Given the description of an element on the screen output the (x, y) to click on. 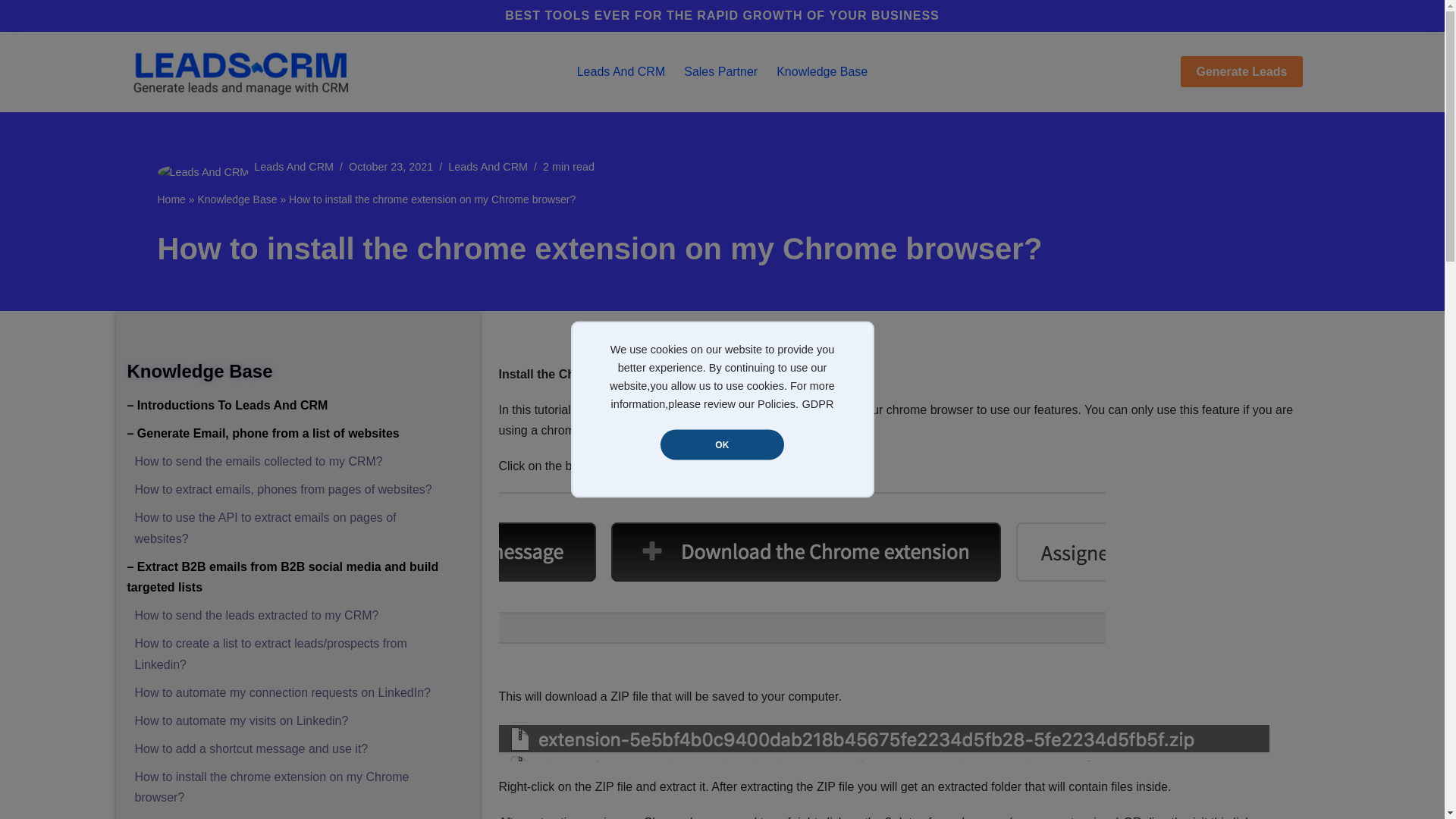
Knowledge Base (236, 199)
How to send the leads extracted to my CRM? (256, 615)
Knowledge Base (821, 71)
How to use the API to extract emails on pages of websites? (265, 527)
How to install the chrome extension on my Chrome browser? (272, 786)
How to extract emails, phones from pages of websites? (283, 489)
GDPR (818, 288)
Posts by Leads And CRM (293, 166)
Leads And CRM (620, 71)
How to add a shortcut message and use it? (251, 748)
